Given the description of an element on the screen output the (x, y) to click on. 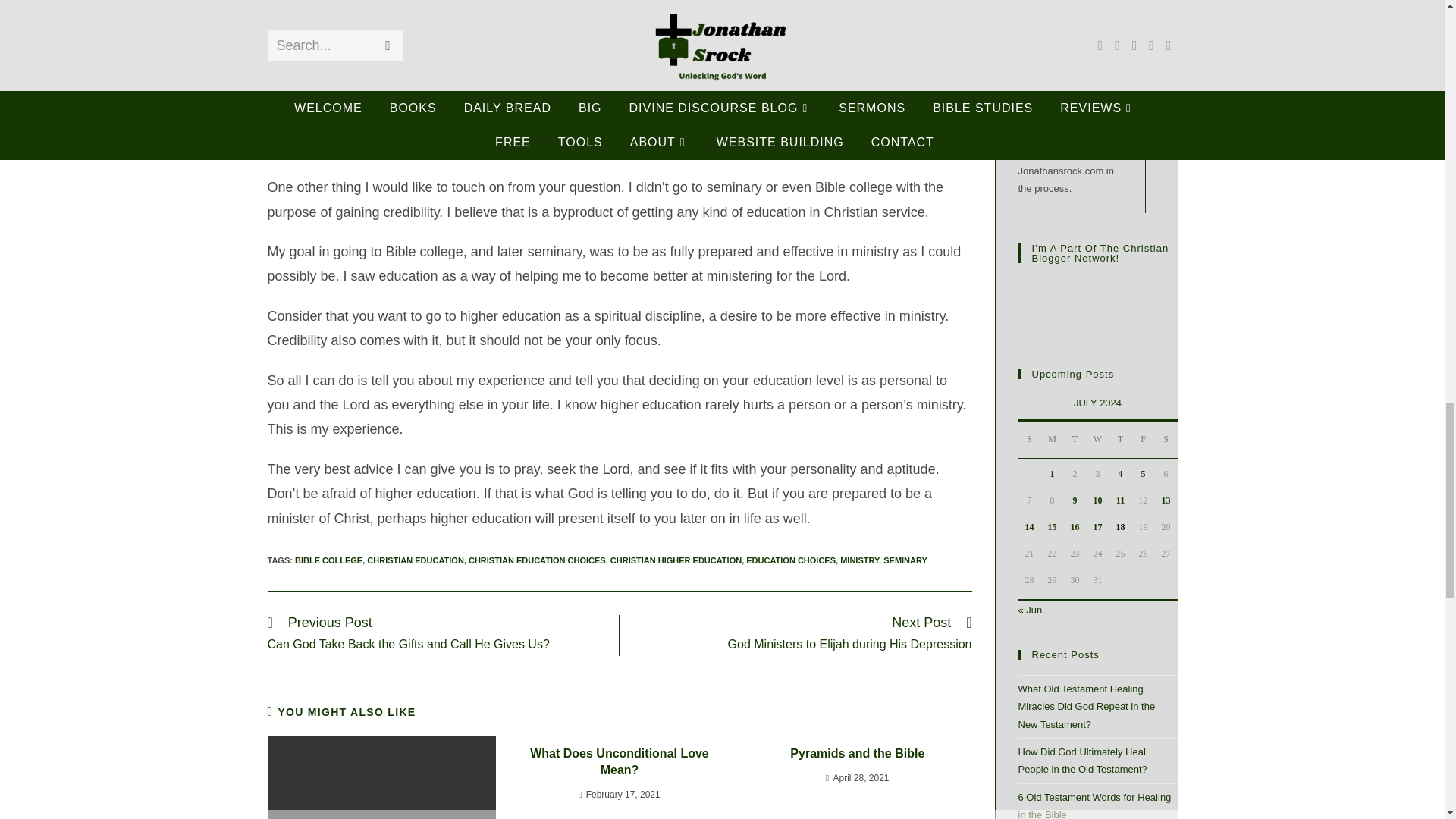
Sunday (1029, 439)
Monday (1051, 439)
Saturday (1165, 439)
Tuesday (1074, 439)
Friday (1142, 439)
Thursday (1119, 439)
Wednesday (1097, 439)
